Given the description of an element on the screen output the (x, y) to click on. 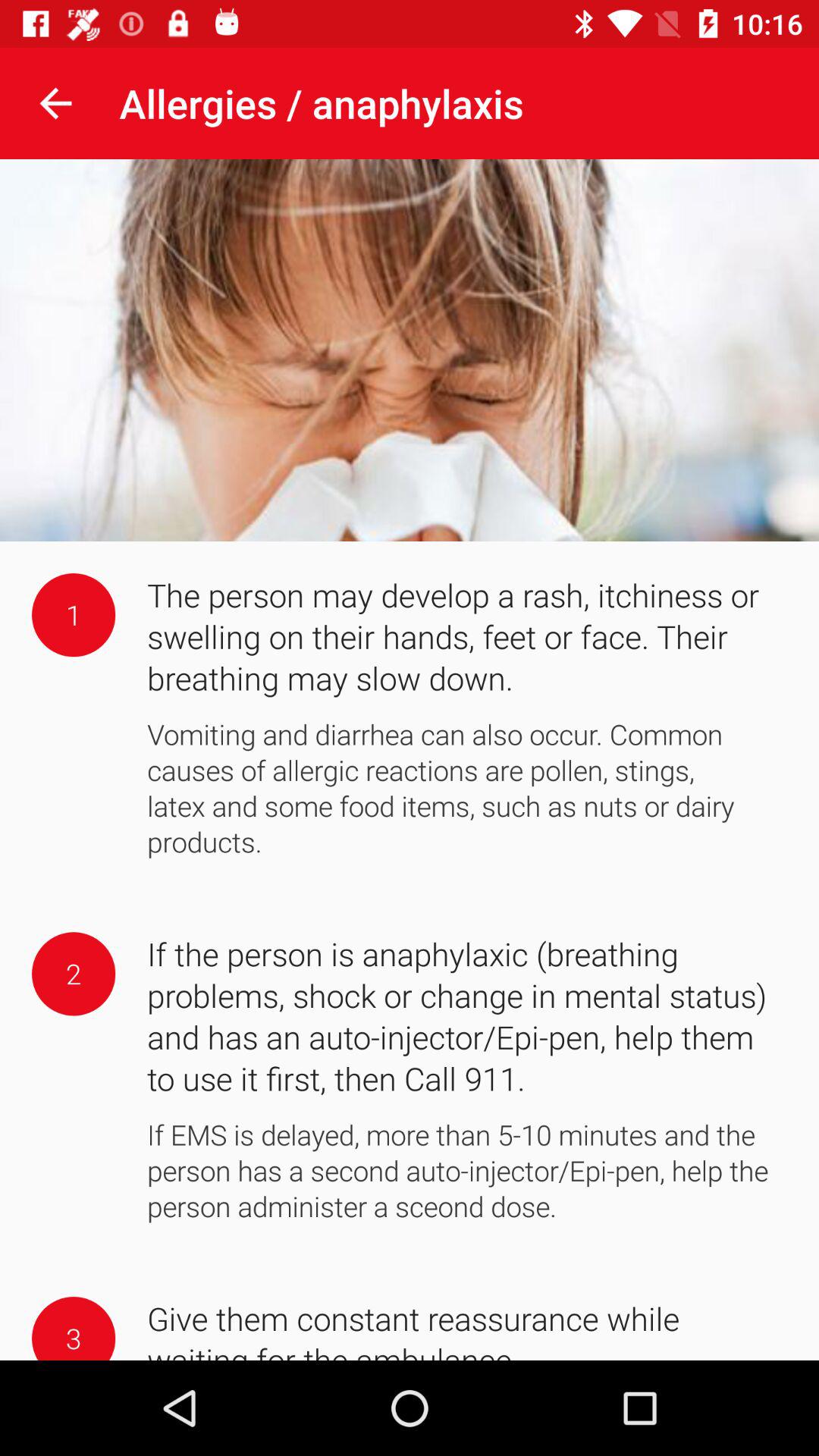
choose the app to the left of the allergies / anaphylaxis item (55, 103)
